Given the description of an element on the screen output the (x, y) to click on. 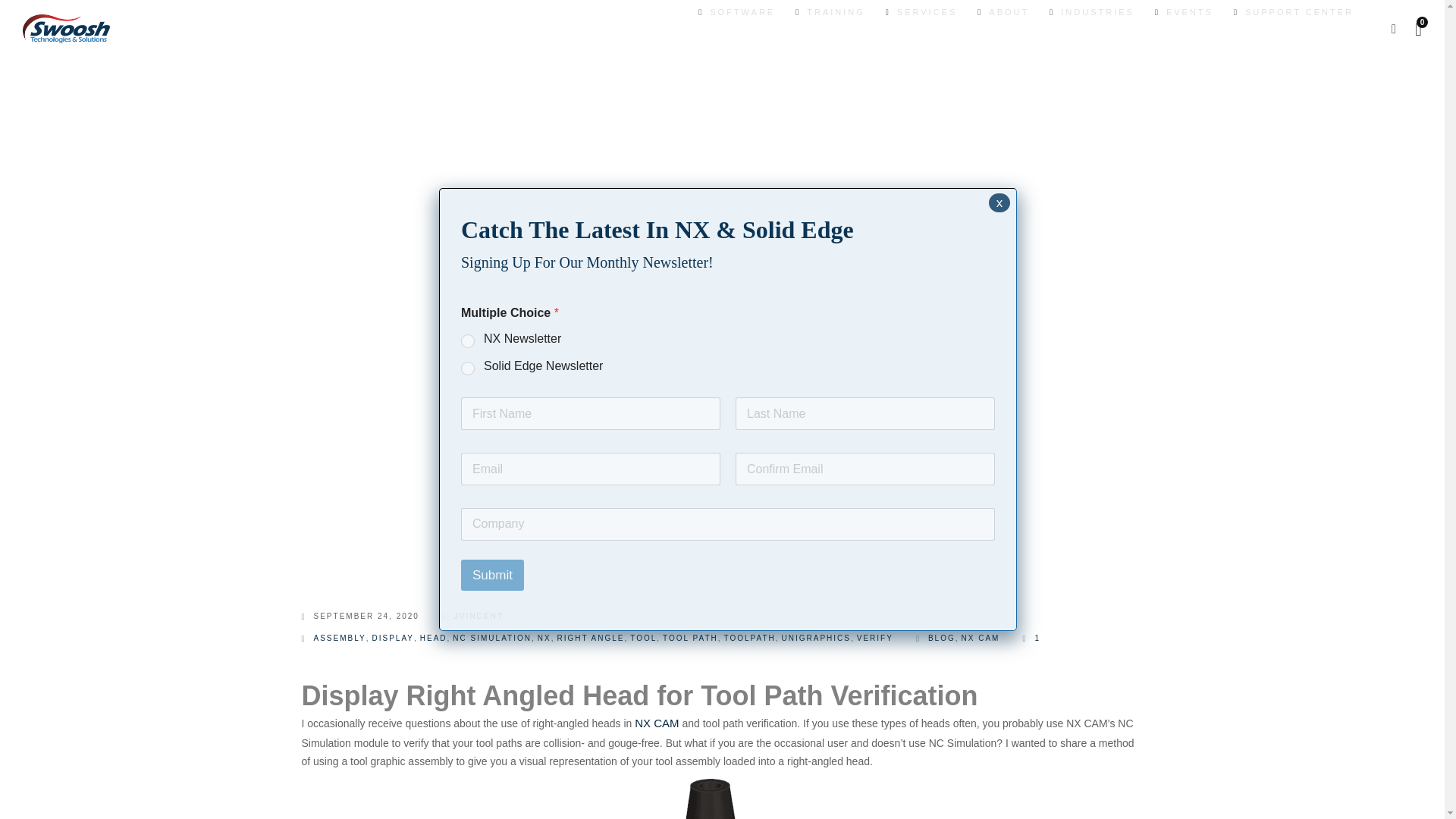
Picture1 (718, 795)
NX Newsletter (468, 341)
Solid Edge Newsletter (468, 369)
